Given the description of an element on the screen output the (x, y) to click on. 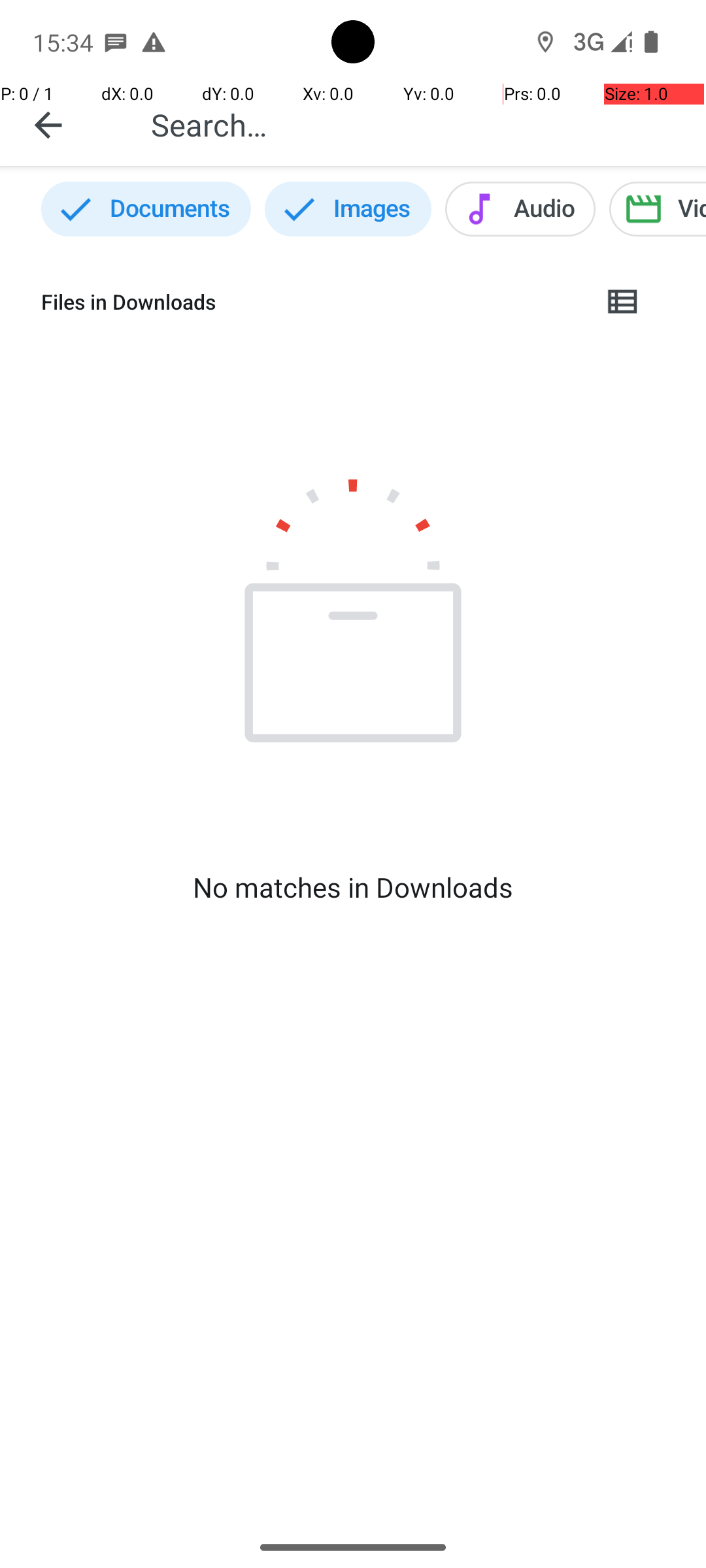
Files in Downloads Element type: android.widget.TextView (311, 301)
List view Element type: android.widget.TextView (622, 301)
Search… Element type: android.widget.AutoCompleteTextView (414, 124)
Documents Element type: android.widget.CompoundButton (146, 208)
Images Element type: android.widget.CompoundButton (347, 208)
Audio Element type: android.widget.CompoundButton (520, 208)
Videos Element type: android.widget.CompoundButton (657, 208)
No matches in Downloads Element type: android.widget.TextView (352, 886)
